Given the description of an element on the screen output the (x, y) to click on. 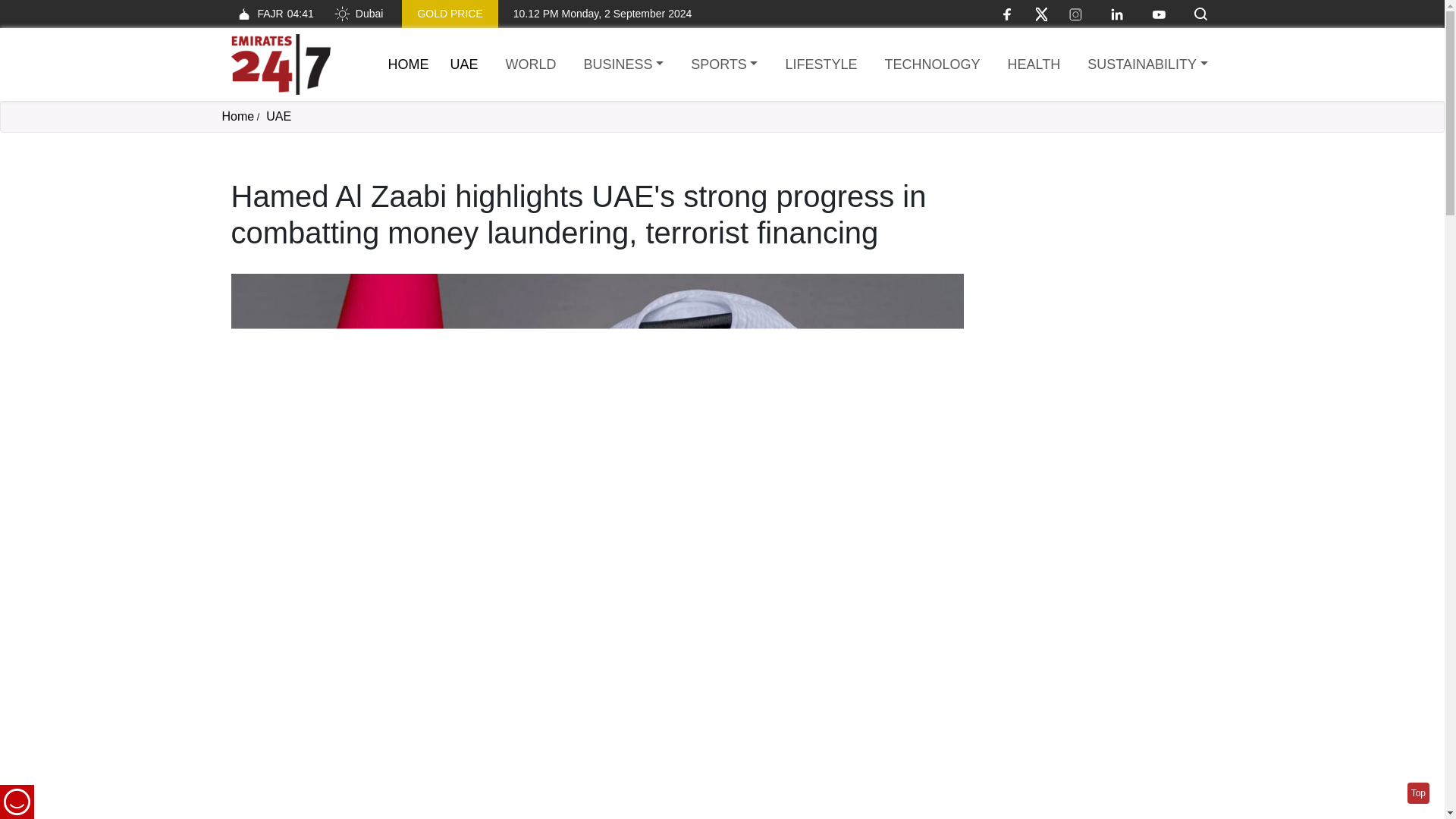
WORLD (530, 64)
HEALTH (1034, 64)
SUSTAINABILITY (1146, 64)
Home (237, 115)
TECHNOLOGY (931, 64)
Home (408, 63)
Dubai (358, 13)
HOME (408, 63)
Home (280, 64)
UAE (278, 115)
